Given the description of an element on the screen output the (x, y) to click on. 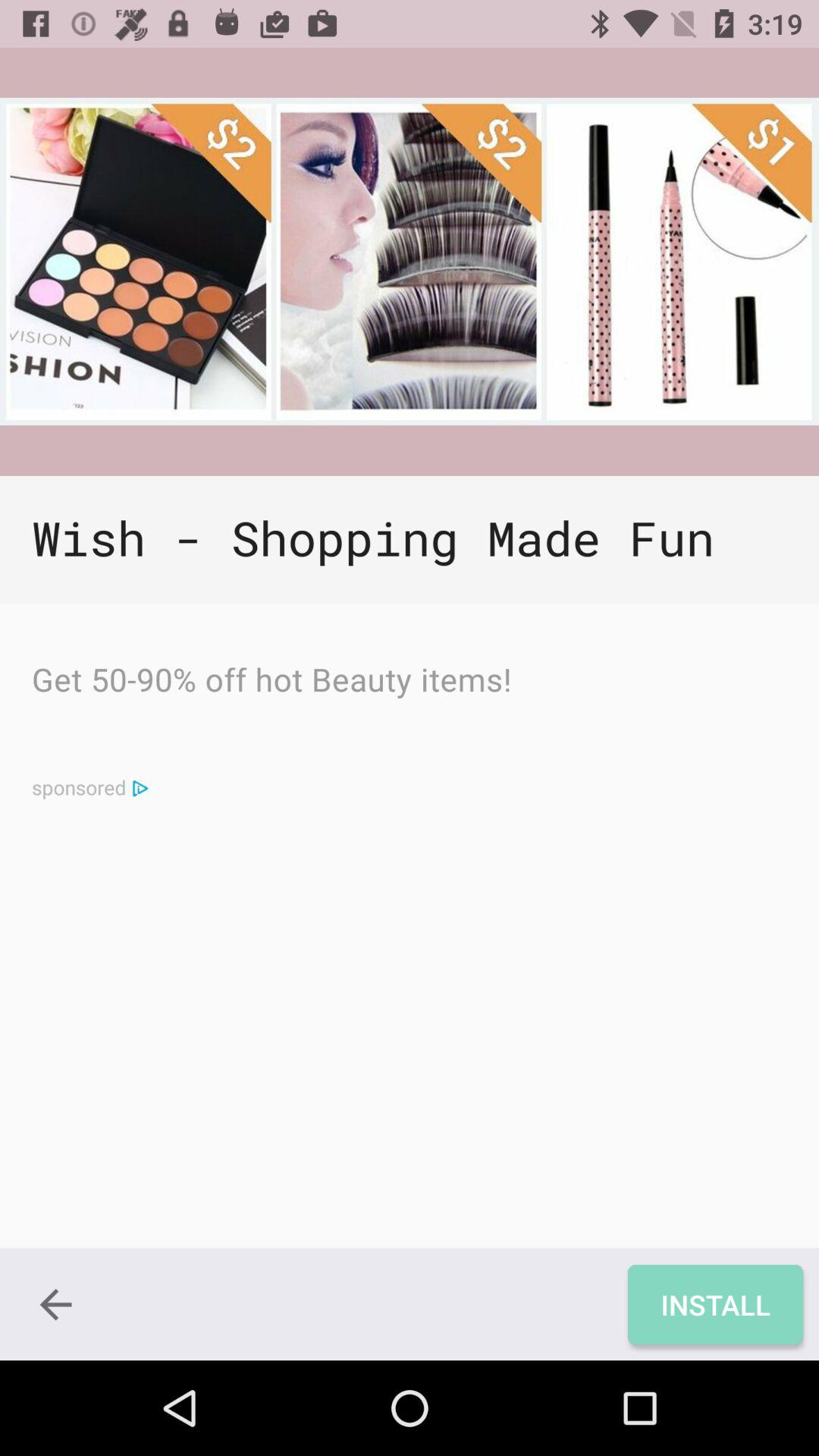
scroll until install (715, 1304)
